Given the description of an element on the screen output the (x, y) to click on. 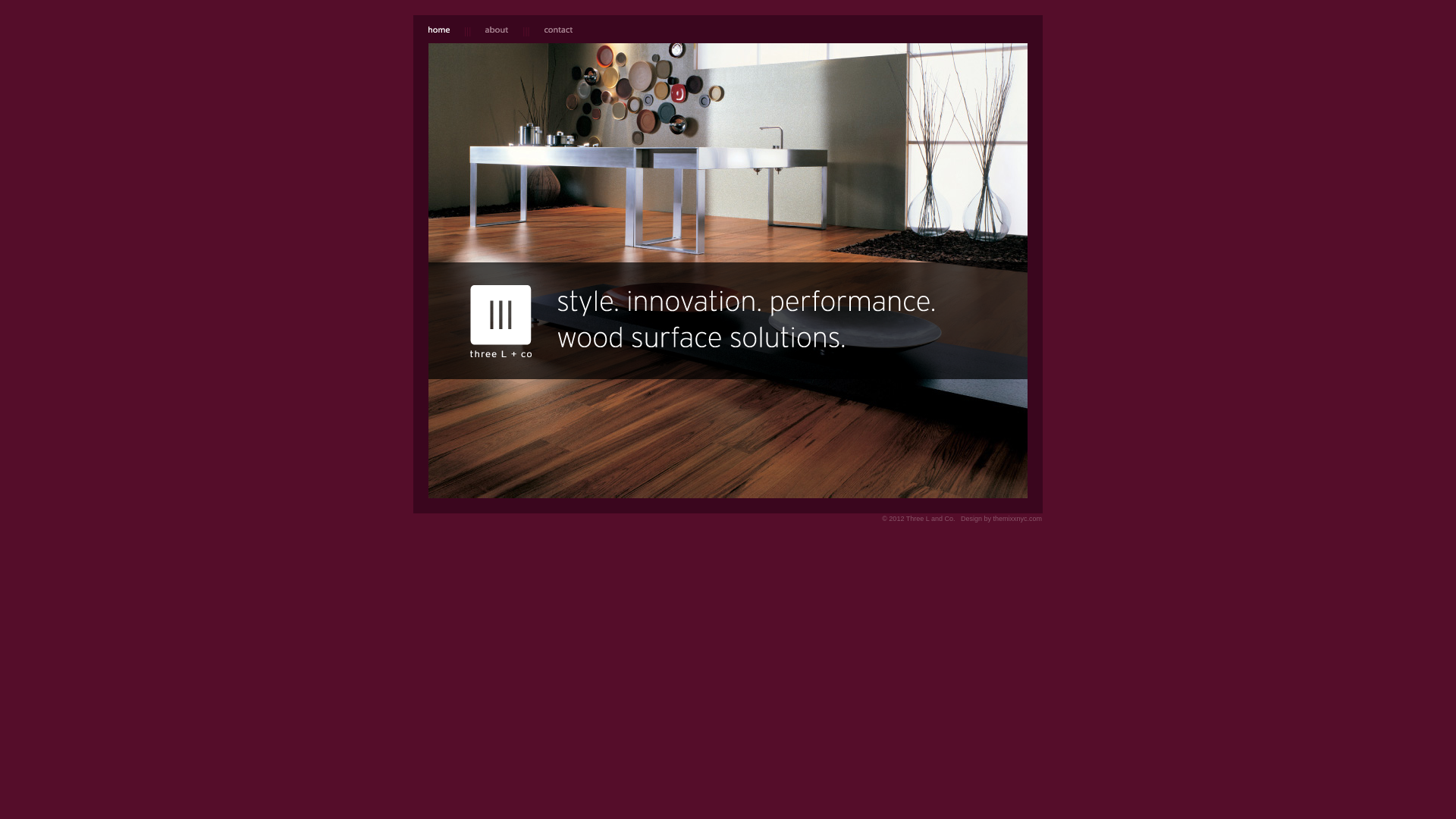
themixxnyc.com Element type: text (1016, 518)
